Given the description of an element on the screen output the (x, y) to click on. 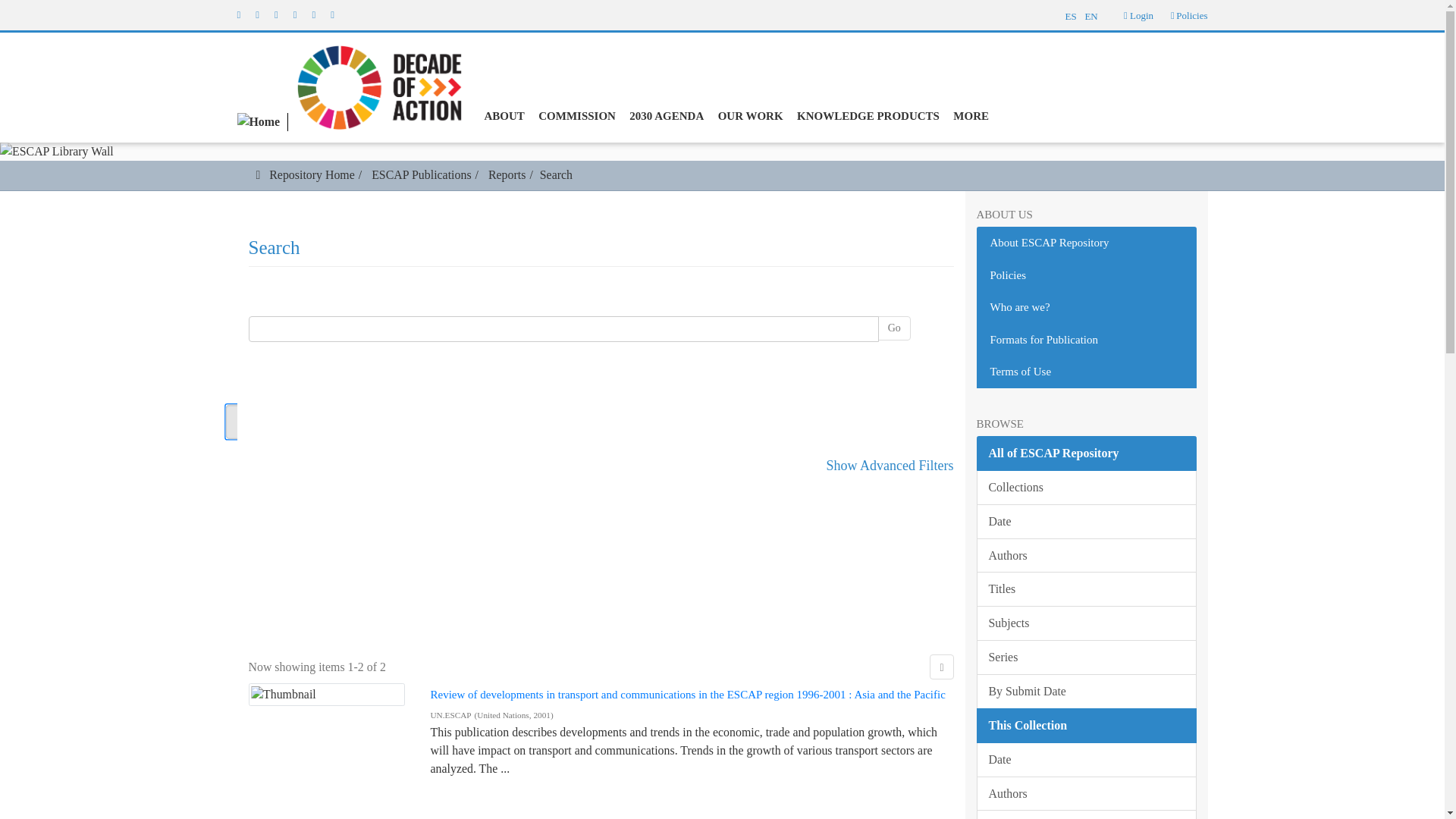
Decade of action (375, 85)
ES (1069, 14)
EN (1097, 14)
Login (1138, 15)
Policies (1191, 15)
